Given the description of an element on the screen output the (x, y) to click on. 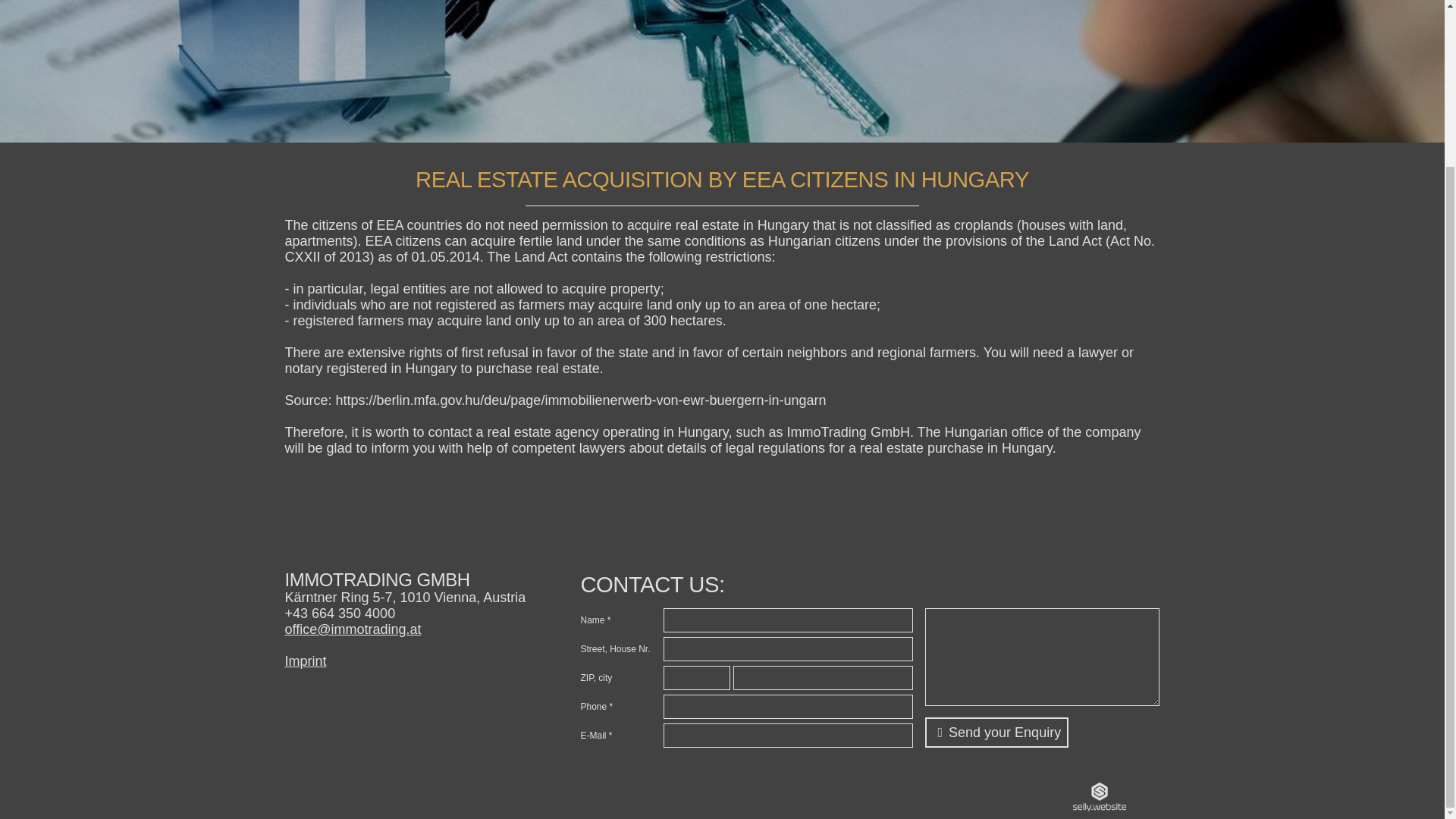
Send your Enquiry (996, 732)
Website by selly (1099, 795)
Imprint (305, 661)
